Given the description of an element on the screen output the (x, y) to click on. 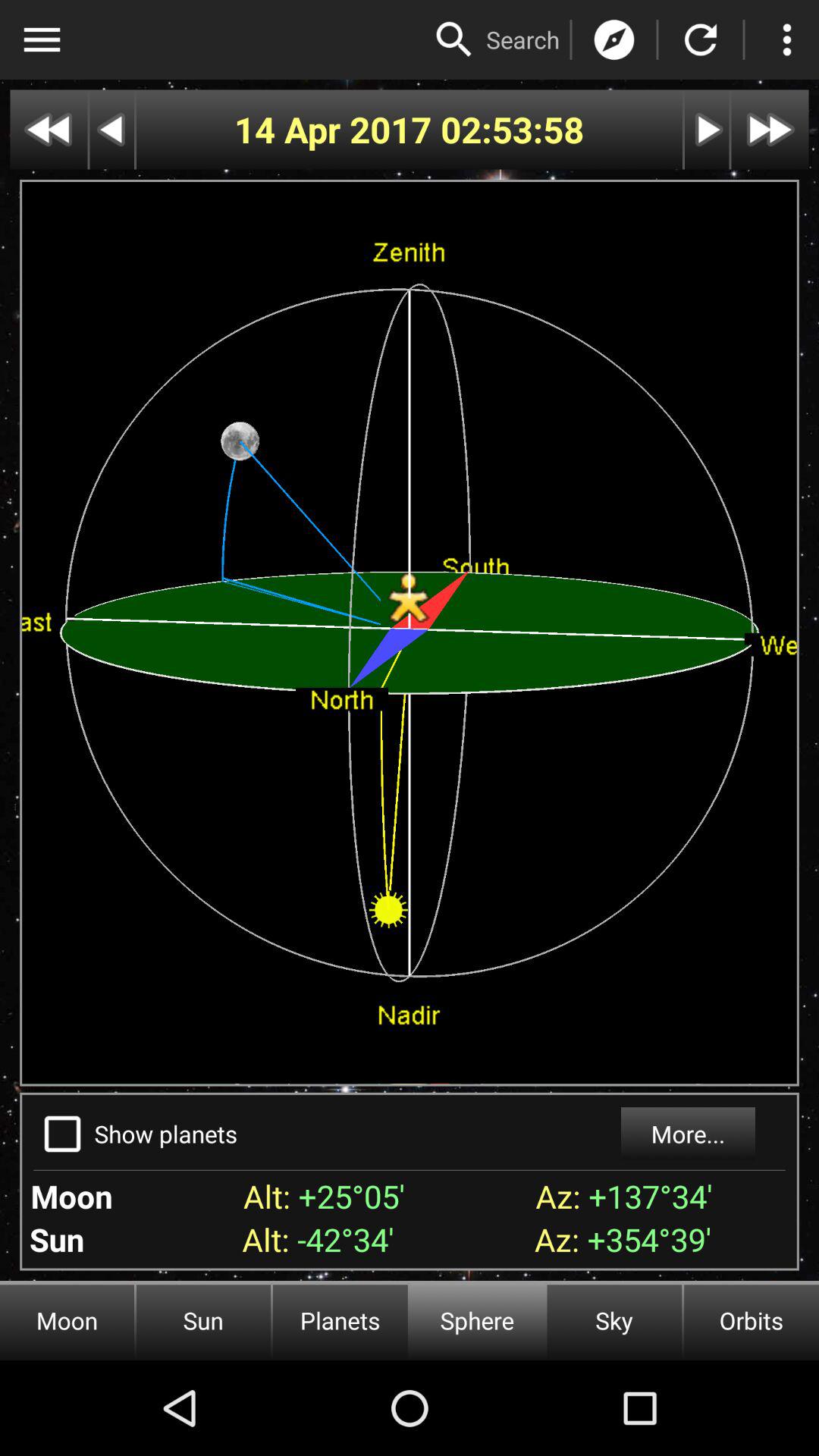
page forward (769, 129)
